Given the description of an element on the screen output the (x, y) to click on. 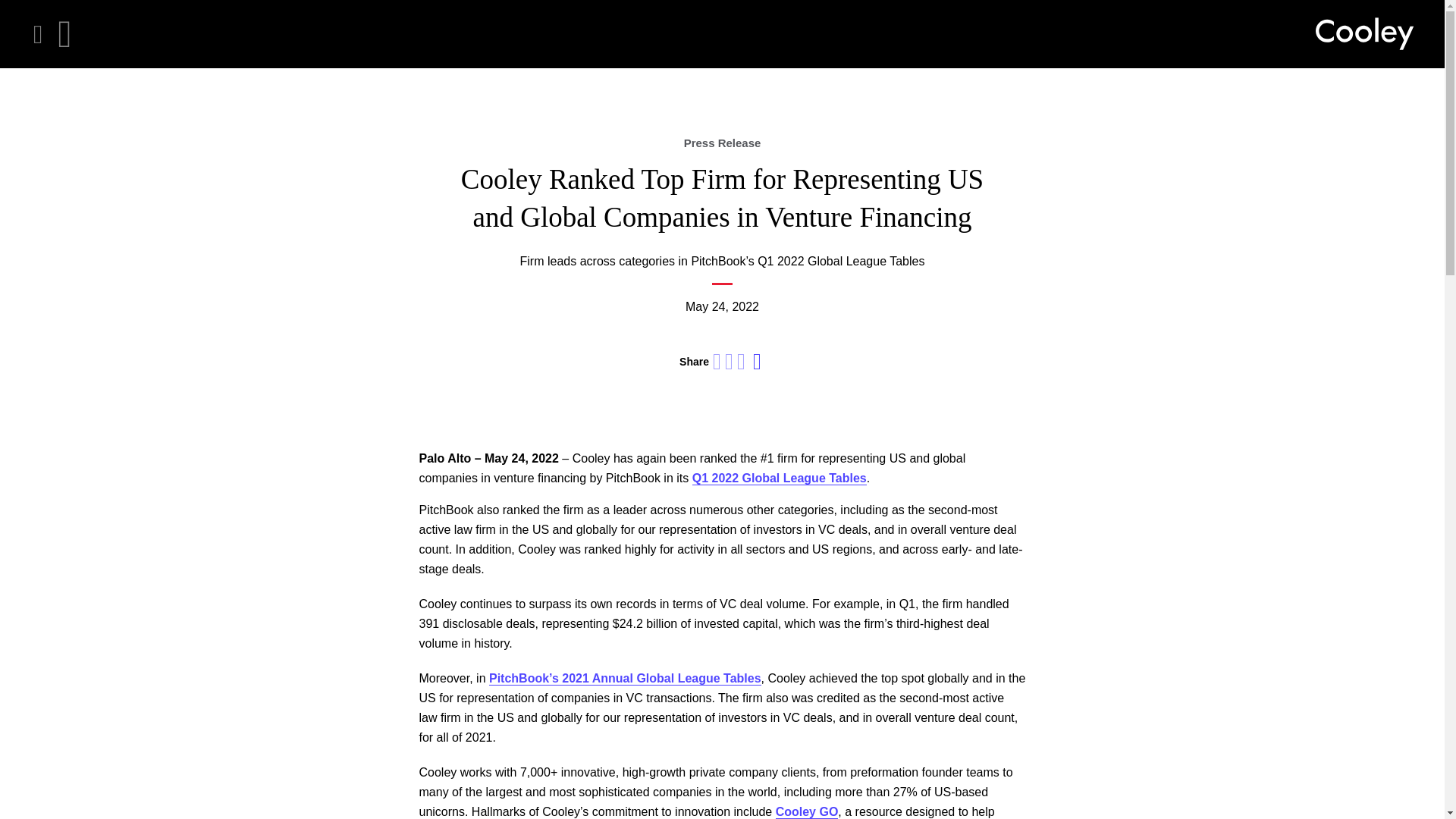
Share on LinkedIn (716, 361)
search (64, 34)
menu (37, 34)
Share on Facebook (740, 361)
Cooley GO (807, 812)
Skip to main content (12, 12)
Share on Twitter (729, 361)
Q1 2022 Global League Tables (779, 478)
Share with Email (756, 361)
